Given the description of an element on the screen output the (x, y) to click on. 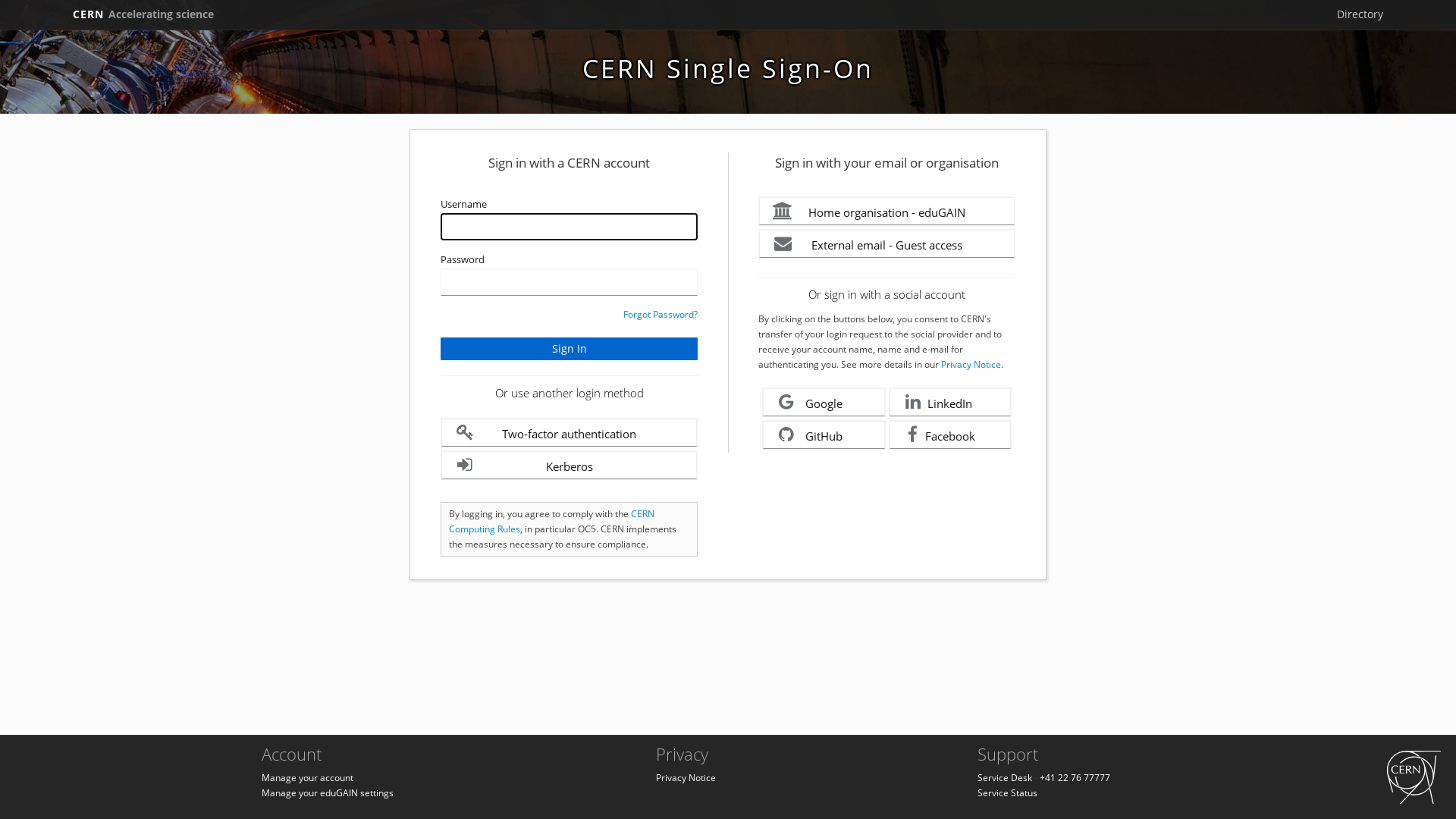
Privacy Notice Element type: text (971, 363)
+41 22 76 77777 Element type: text (1074, 777)
External email - Guest access Element type: text (886, 243)
CERN Computing Rules Element type: text (551, 521)
Two-factor authentication Element type: text (568, 432)
Home organisation - eduGAIN Element type: text (886, 210)
Directory Element type: text (1359, 14)
Kerberos Element type: text (568, 465)
Forgot Password? Element type: text (660, 313)
Manage your account Element type: text (307, 777)
CERN Accelerating science Element type: text (142, 14)
Google Element type: text (823, 402)
Facebook Element type: text (950, 434)
Manage your eduGAIN settings Element type: text (327, 792)
Sign In Element type: text (568, 348)
GitHub Element type: text (823, 434)
Privacy Notice Element type: text (685, 777)
LinkedIn Element type: text (950, 402)
Service Desk Element type: text (1004, 777)
Service Status Element type: text (1007, 792)
